Given the description of an element on the screen output the (x, y) to click on. 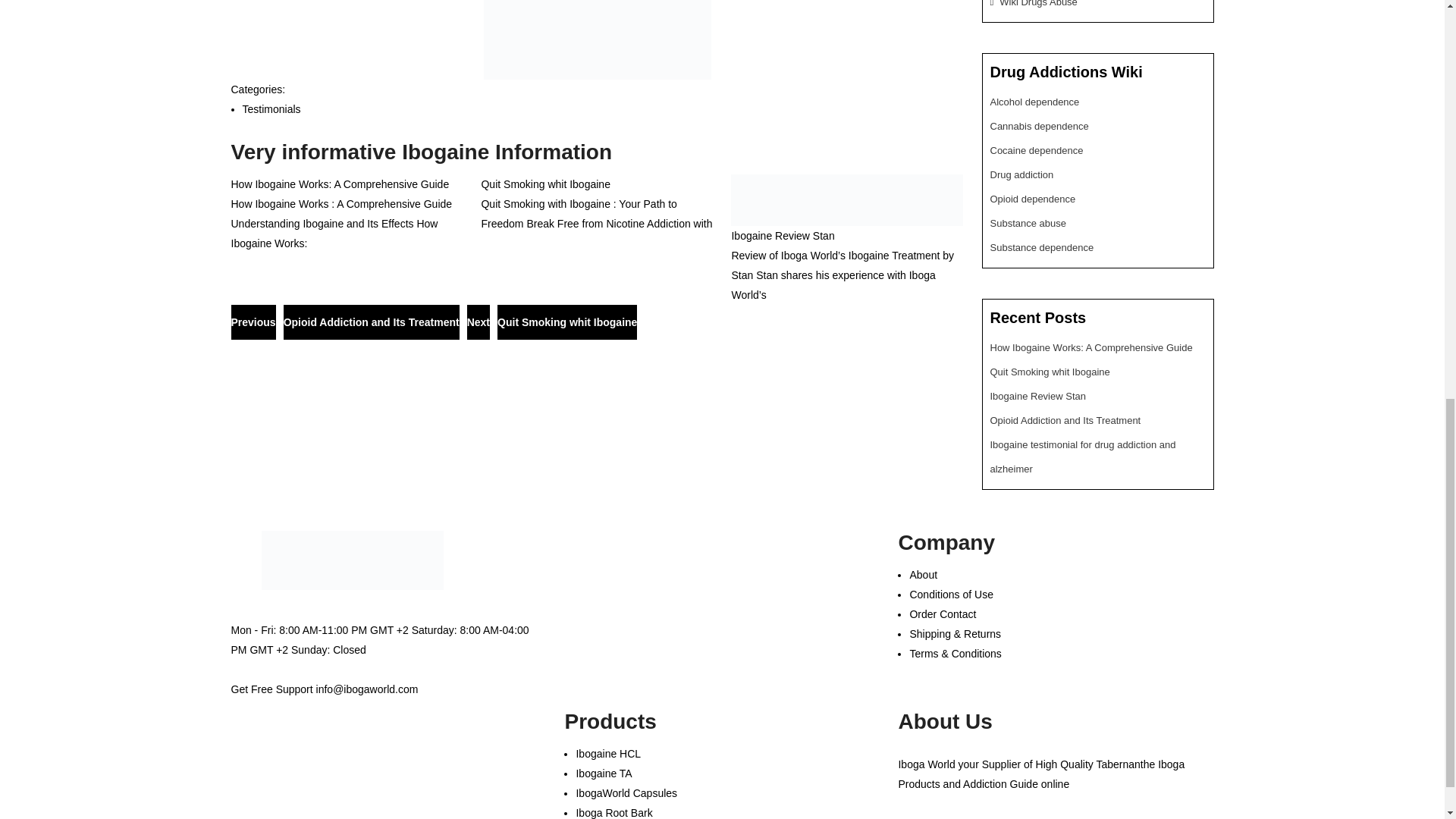
Ibogaine Review Stan (782, 235)
How Ibogaine Works: A Comprehensive Guide (339, 184)
Quit Smoking whit Ibogaine (545, 184)
Wiki Drugs Abuse (1037, 3)
Alcohol dependence (1035, 101)
Testimonials (272, 109)
